Given the description of an element on the screen output the (x, y) to click on. 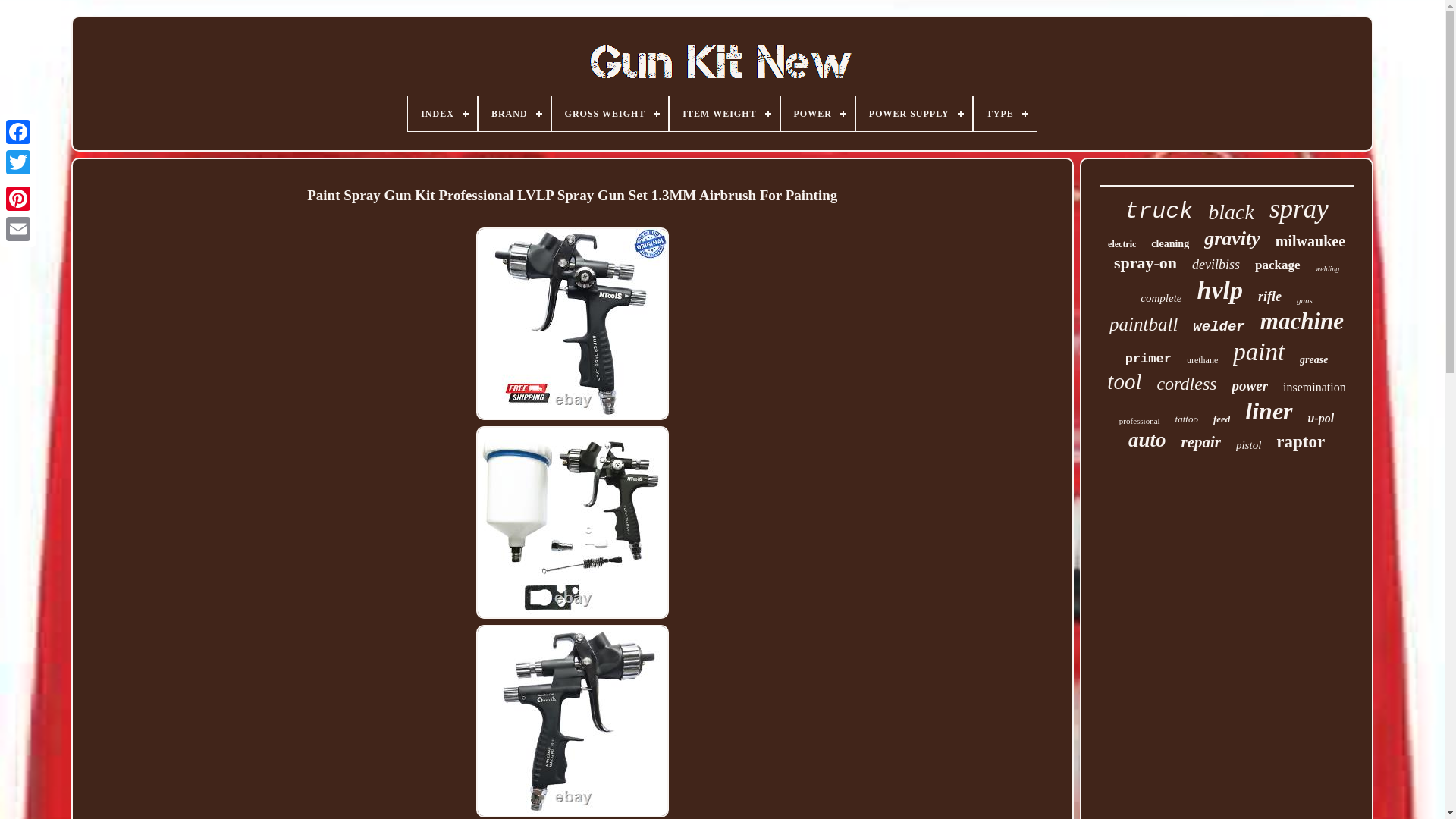
Facebook (17, 132)
INDEX (442, 113)
GROSS WEIGHT (609, 113)
BRAND (514, 113)
Twitter (17, 162)
ITEM WEIGHT (723, 113)
